Given the description of an element on the screen output the (x, y) to click on. 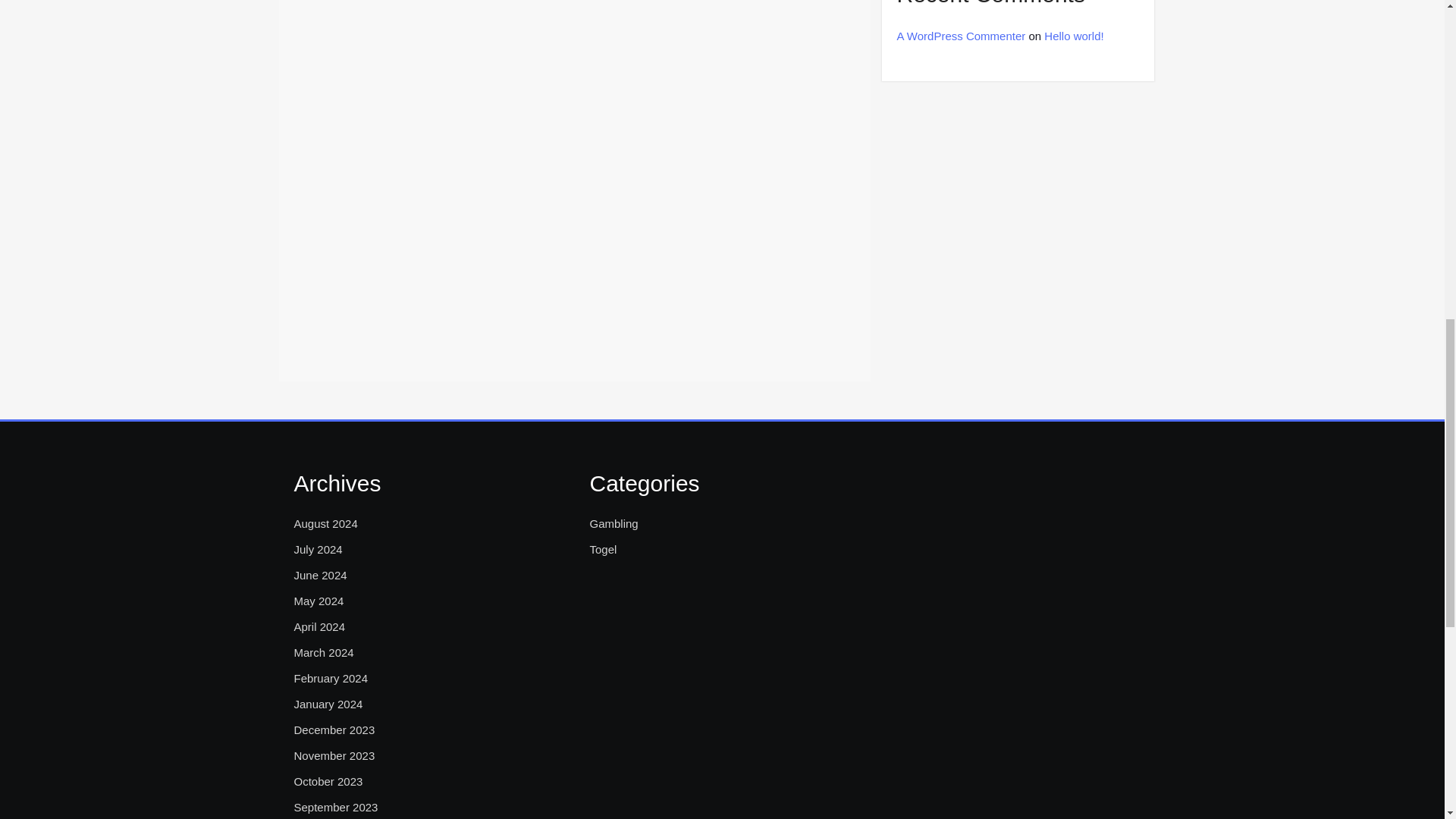
February 2024 (331, 678)
October 2023 (328, 782)
March 2024 (323, 652)
June 2024 (320, 575)
A WordPress Commenter (960, 35)
Hello world! (1073, 35)
May 2024 (318, 601)
September 2023 (336, 807)
November 2023 (334, 755)
January 2024 (328, 704)
July 2024 (318, 549)
August 2024 (326, 524)
December 2023 (334, 730)
April 2024 (320, 627)
